Given the description of an element on the screen output the (x, y) to click on. 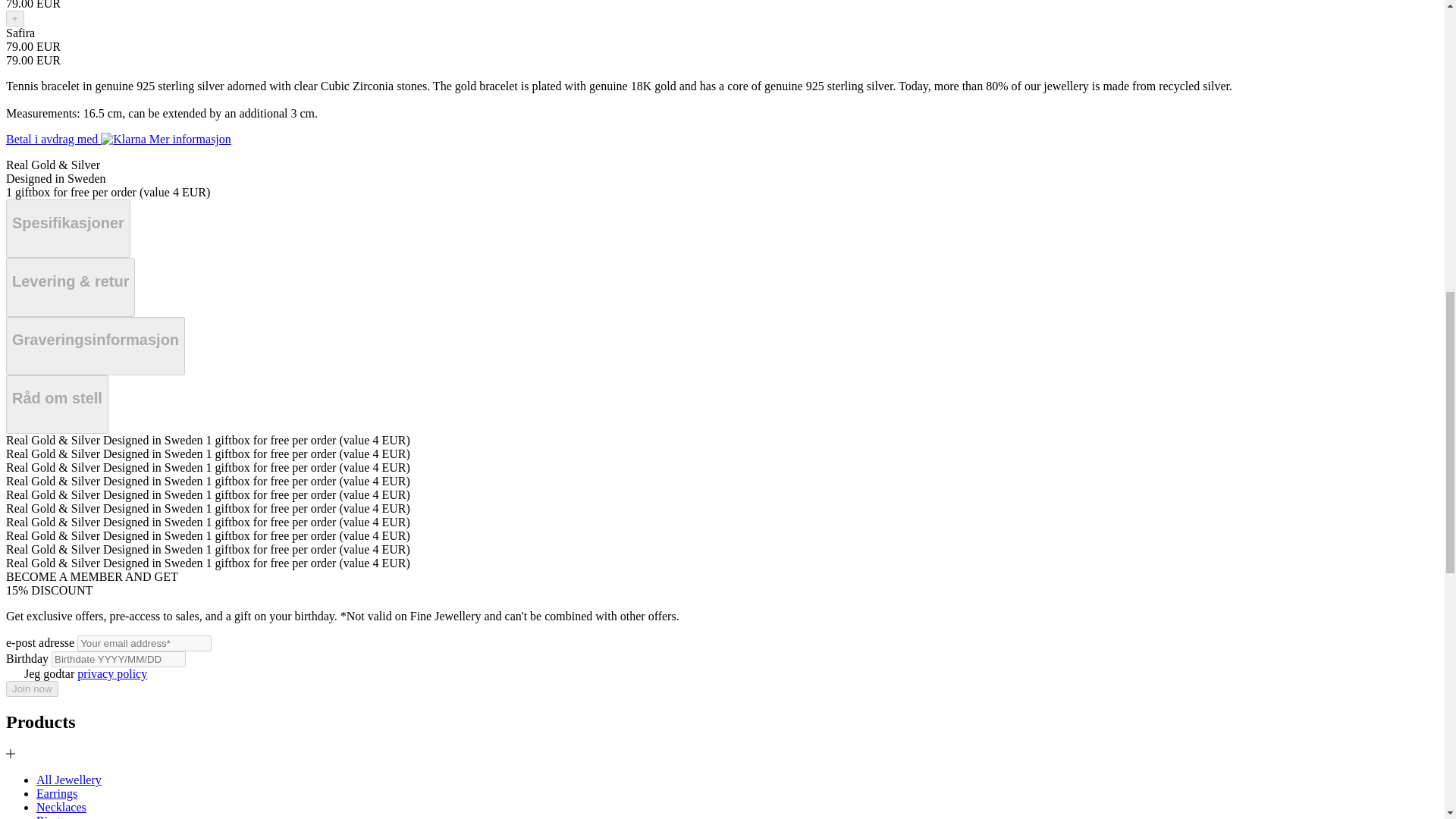
Rings (50, 816)
Spesifikasjoner (68, 228)
Betal i avdrag med Mer informasjon (118, 138)
privacy policy (112, 673)
Earrings (56, 793)
Graveringsinformasjon (94, 345)
All Jewellery (68, 779)
Join now (31, 688)
Necklaces (60, 807)
